Given the description of an element on the screen output the (x, y) to click on. 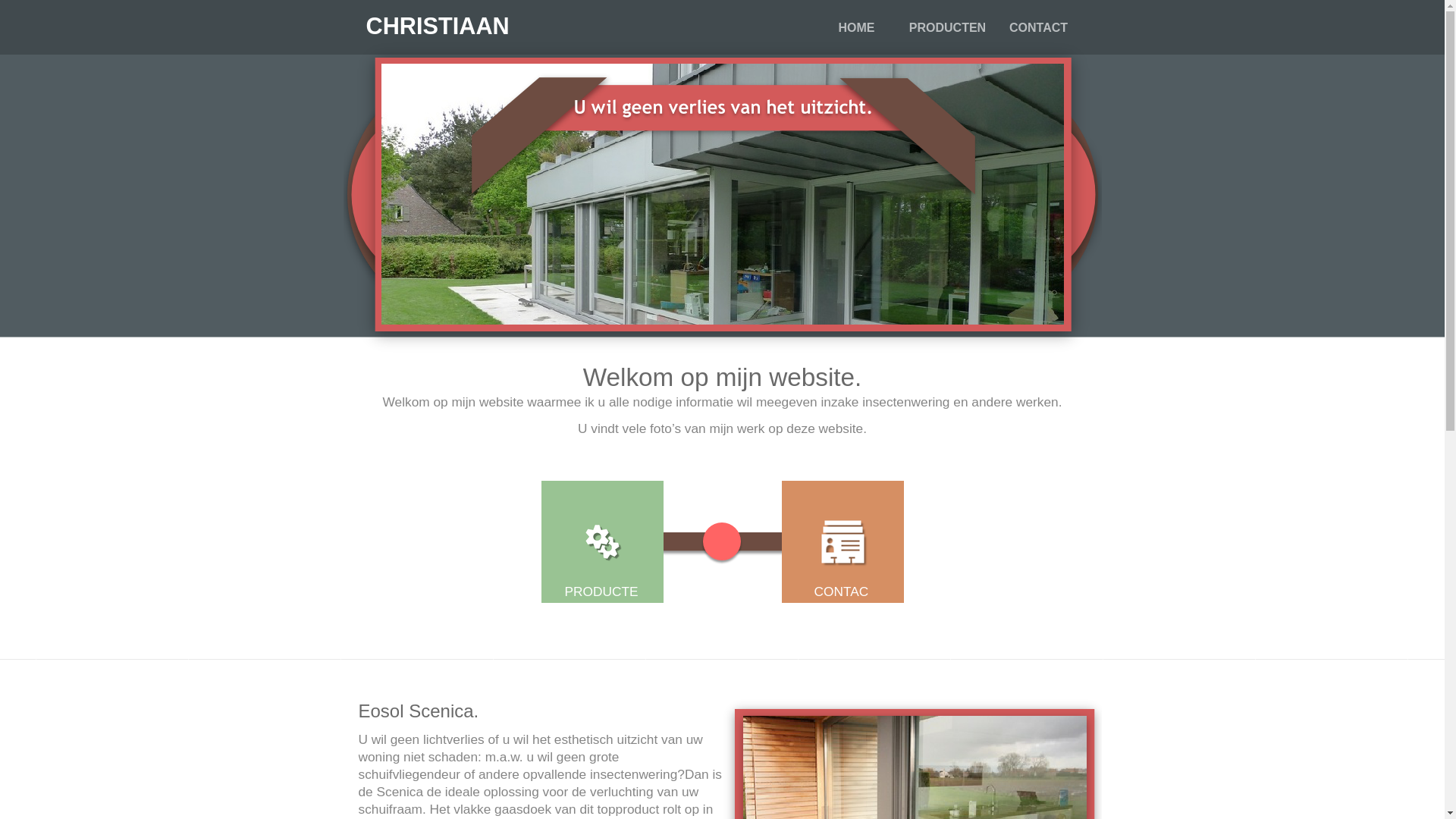
PRODUCTEN Element type: text (600, 599)
CONTACT Element type: text (841, 599)
CHRISTIAAN DECOCK Element type: text (436, 40)
HOME Element type: text (856, 27)
PRODUCTEN Element type: text (947, 27)
CONTACT Element type: text (1038, 27)
